Given the description of an element on the screen output the (x, y) to click on. 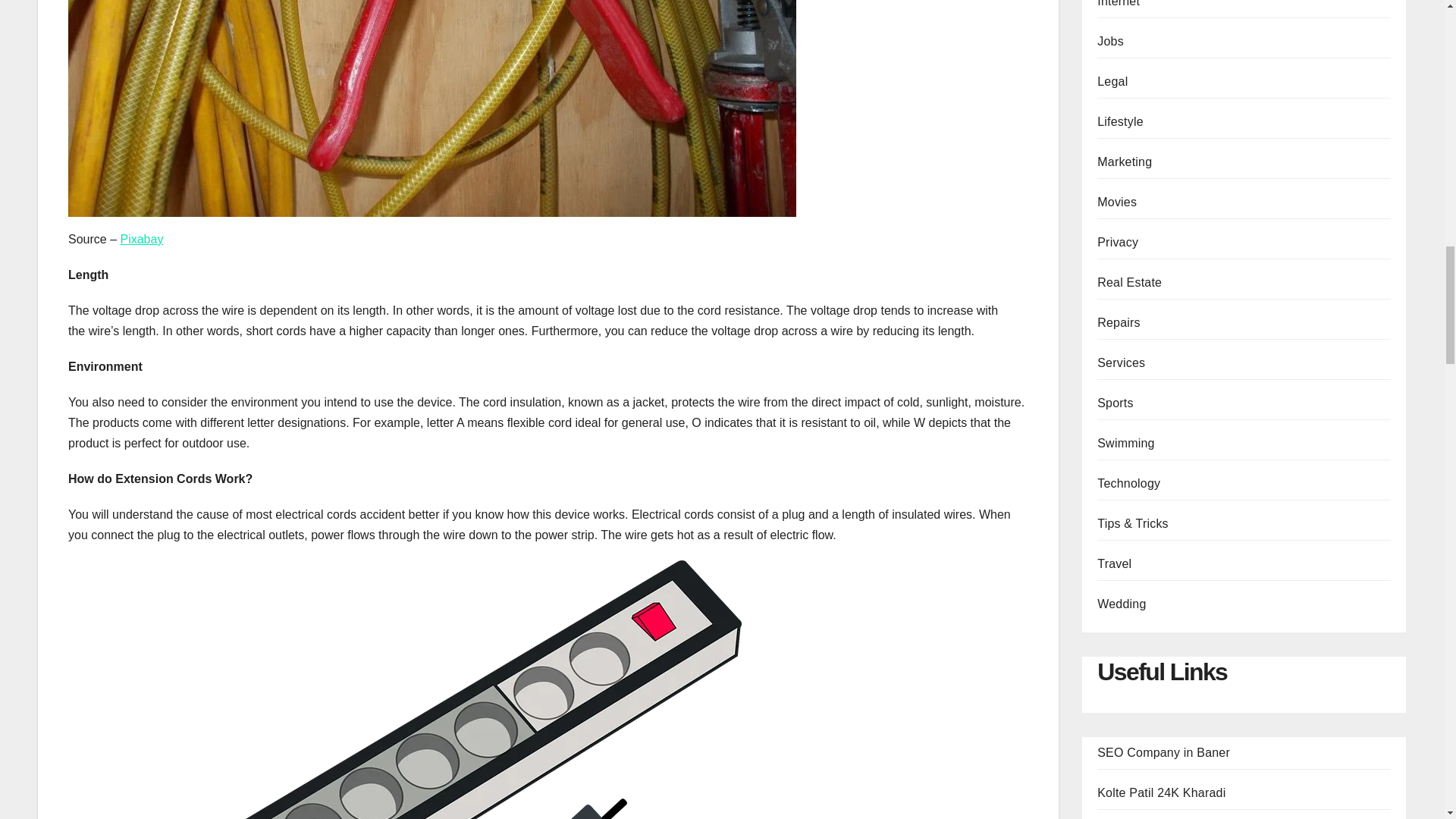
Pixabay (141, 238)
